Given the description of an element on the screen output the (x, y) to click on. 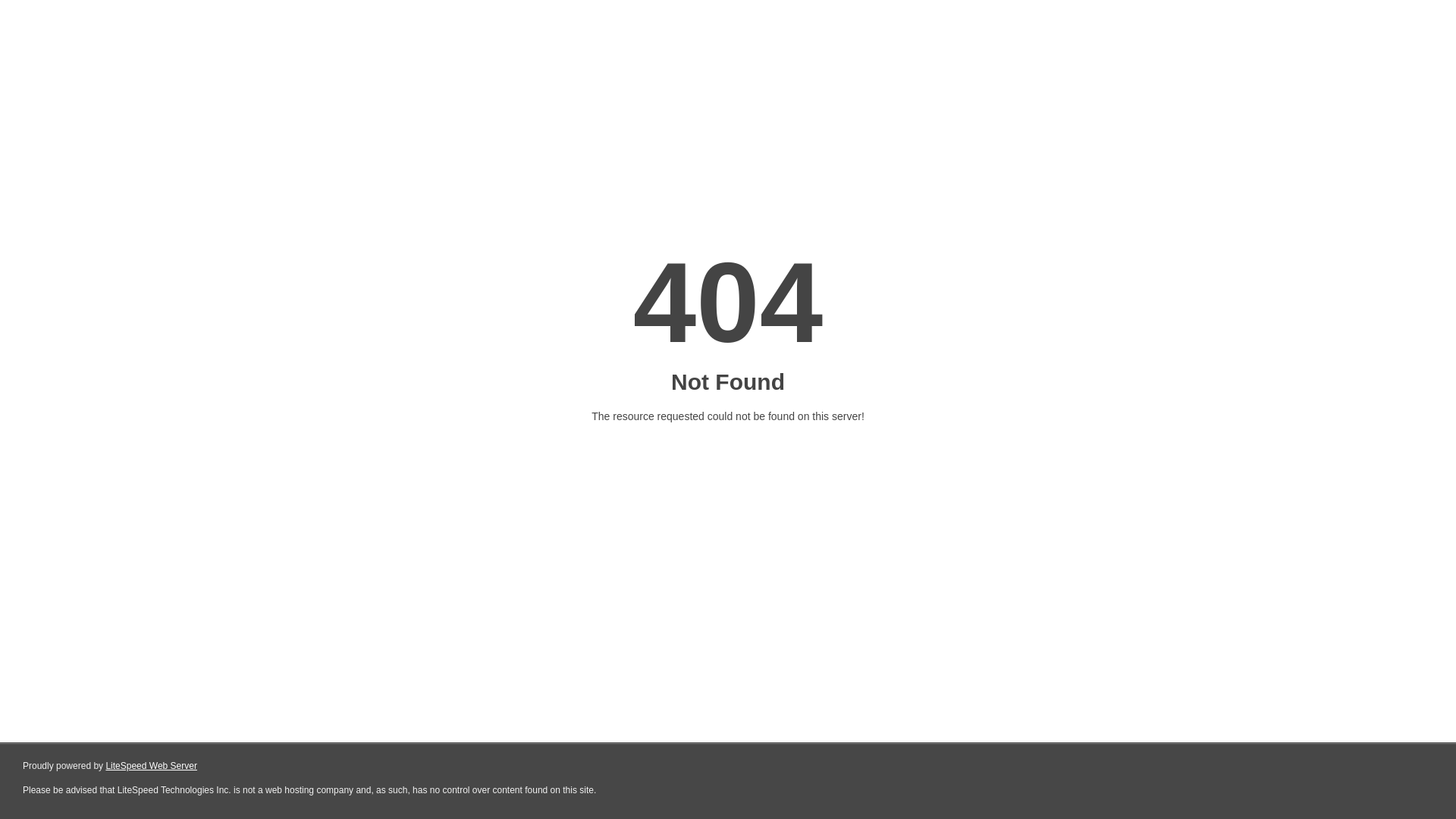
LiteSpeed Web Server Element type: text (151, 765)
